Given the description of an element on the screen output the (x, y) to click on. 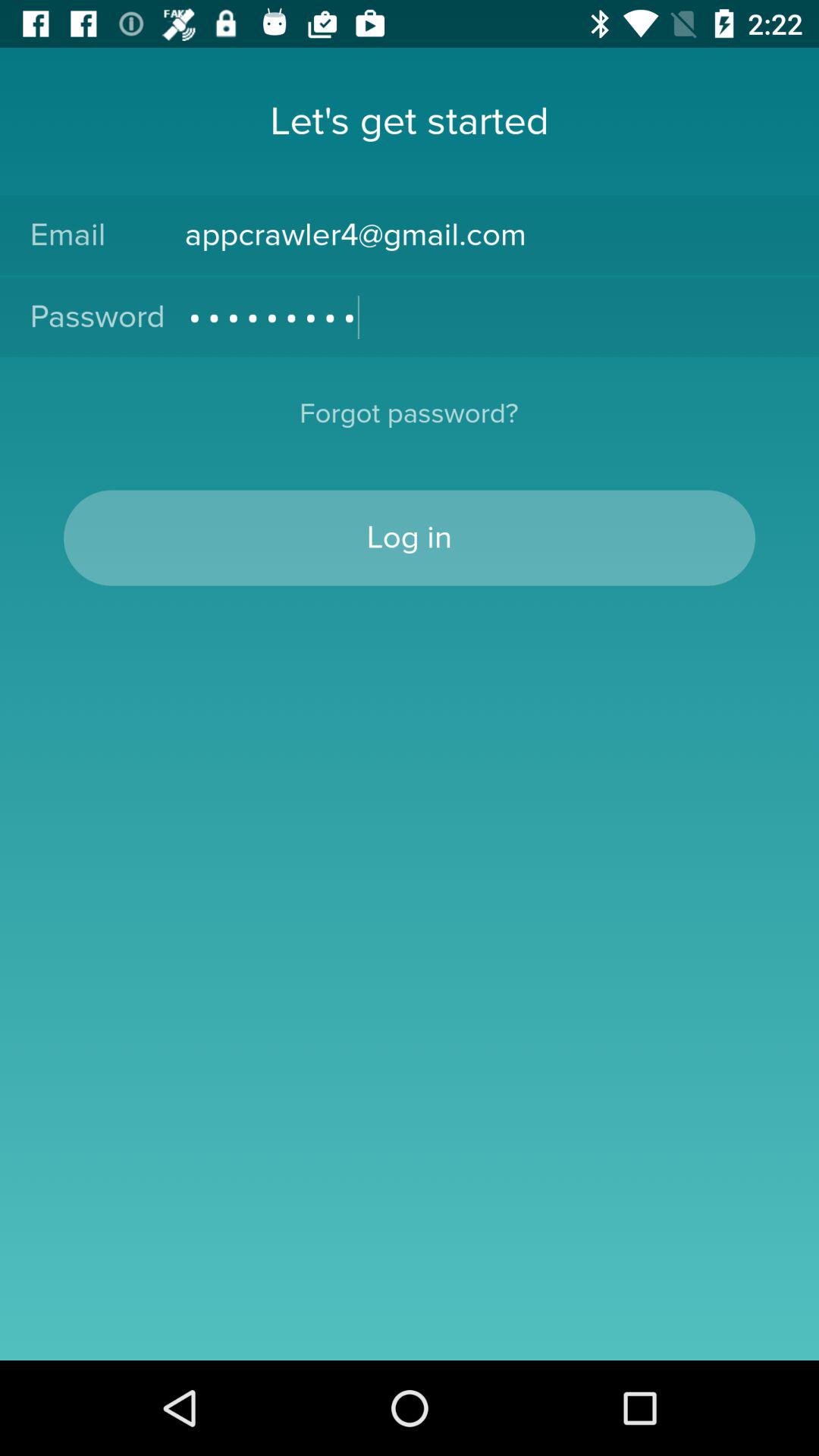
tap the item to the right of password item (486, 316)
